Given the description of an element on the screen output the (x, y) to click on. 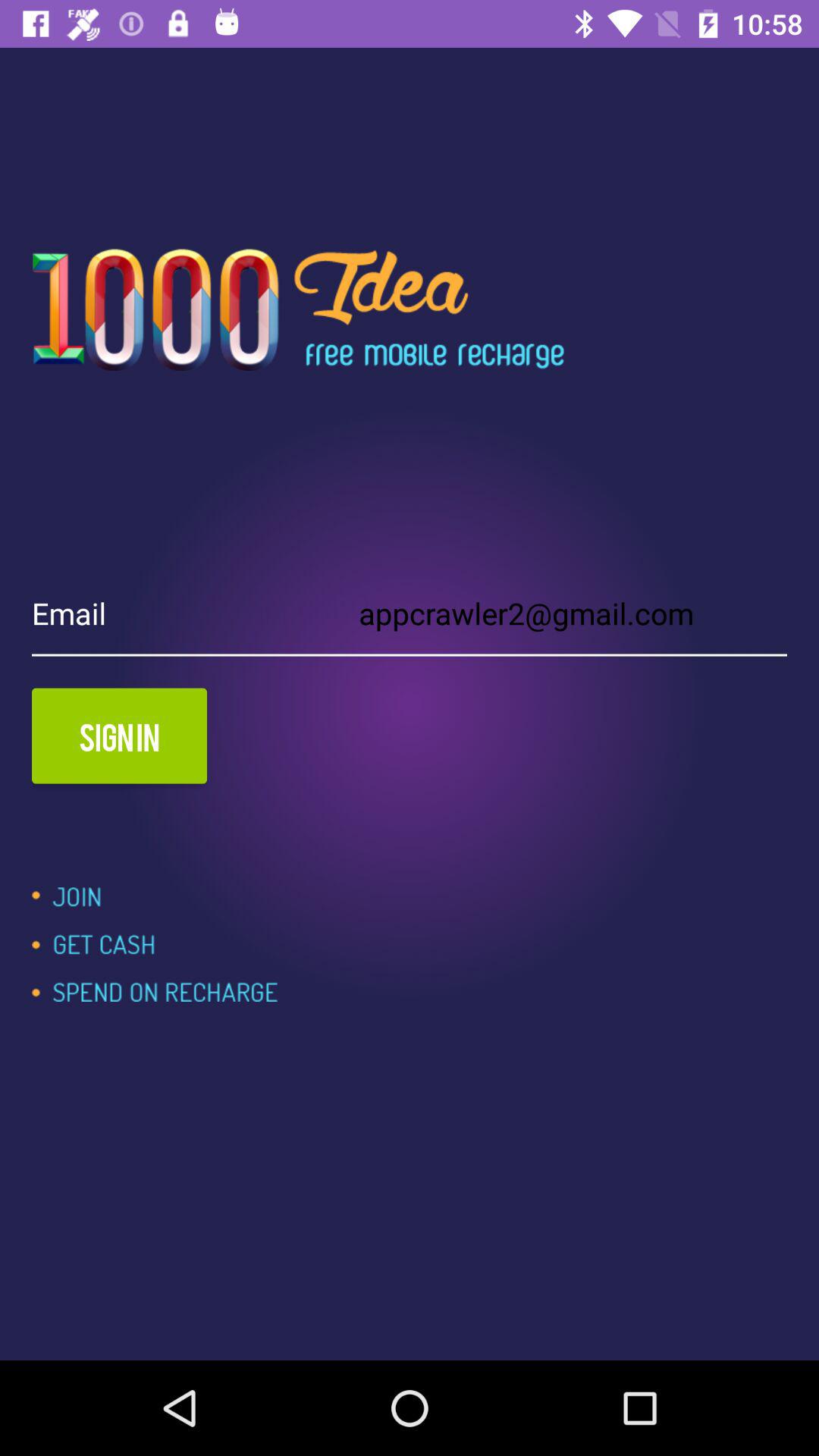
choose the sign in icon (119, 735)
